Given the description of an element on the screen output the (x, y) to click on. 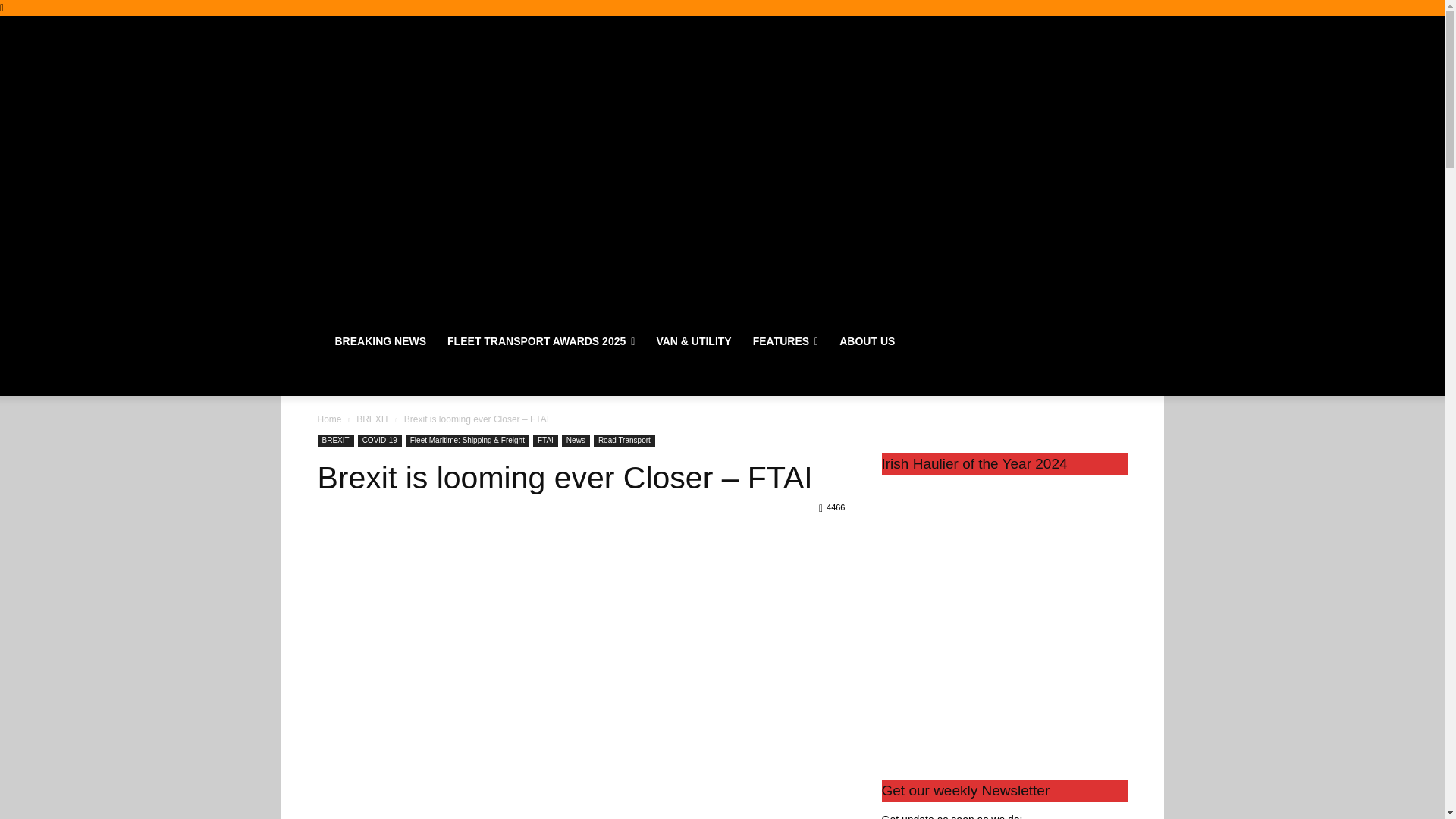
FLEET TRANSPORT AWARDS 2025 (540, 340)
View all posts in BREXIT (372, 419)
BREAKING NEWS (381, 340)
